Given the description of an element on the screen output the (x, y) to click on. 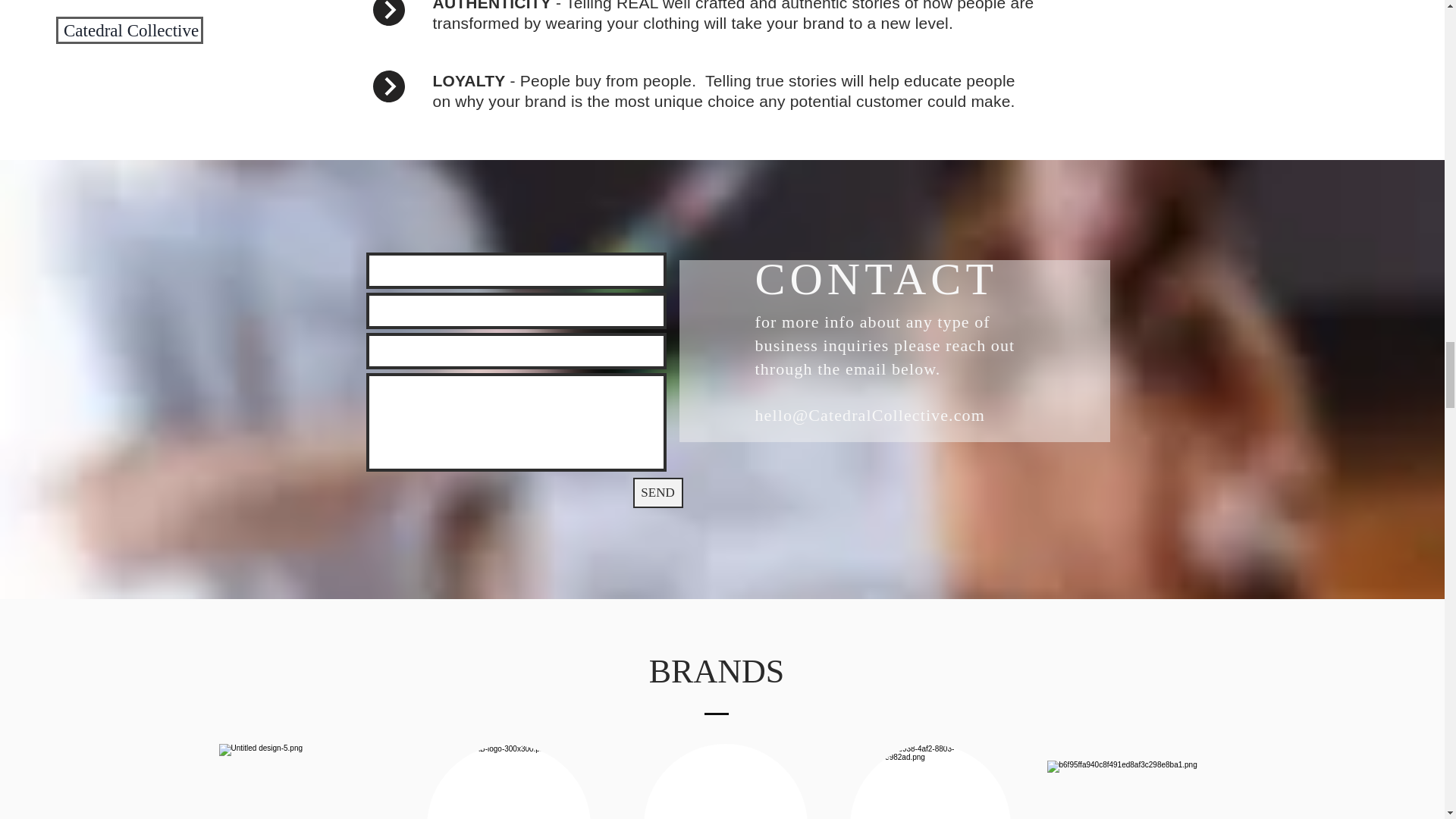
SEND (656, 492)
guy4.jpg (724, 781)
guy2.jpg (507, 781)
guy3.jpg (929, 781)
